Given the description of an element on the screen output the (x, y) to click on. 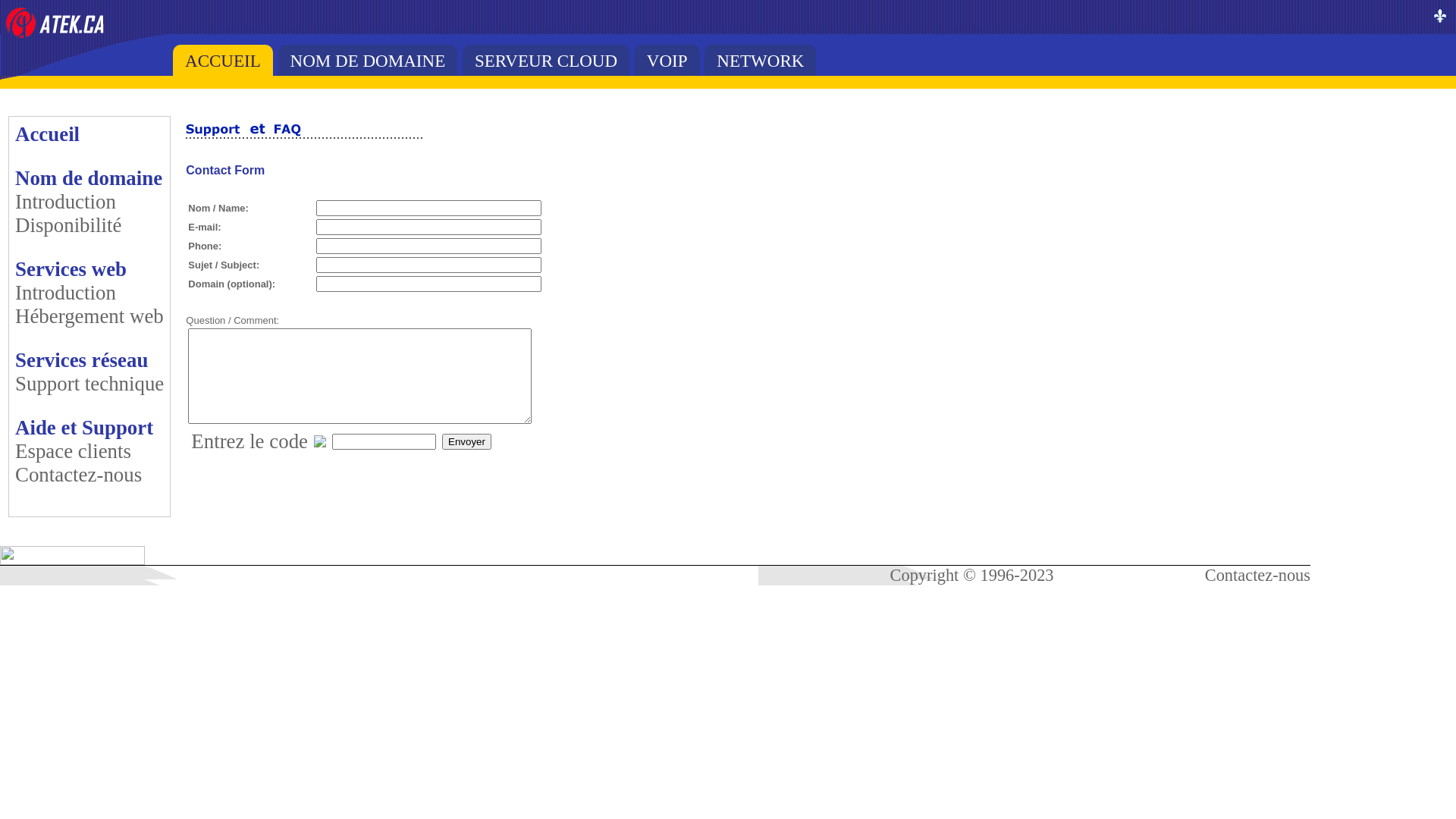
SERVEUR CLOUD Element type: text (545, 59)
VOIP Element type: text (666, 59)
Introduction Element type: text (65, 201)
Contactez-nous Element type: text (78, 473)
Contactez-nous Element type: text (1257, 574)
NOM DE DOMAINE Element type: text (368, 59)
Espace clients Element type: text (73, 450)
ACCUEIL Element type: text (222, 59)
Accueil Element type: text (47, 133)
Introduction Element type: text (65, 292)
Support technique Element type: text (89, 383)
NETWORK Element type: text (759, 59)
Envoyer Element type: text (466, 441)
